Given the description of an element on the screen output the (x, y) to click on. 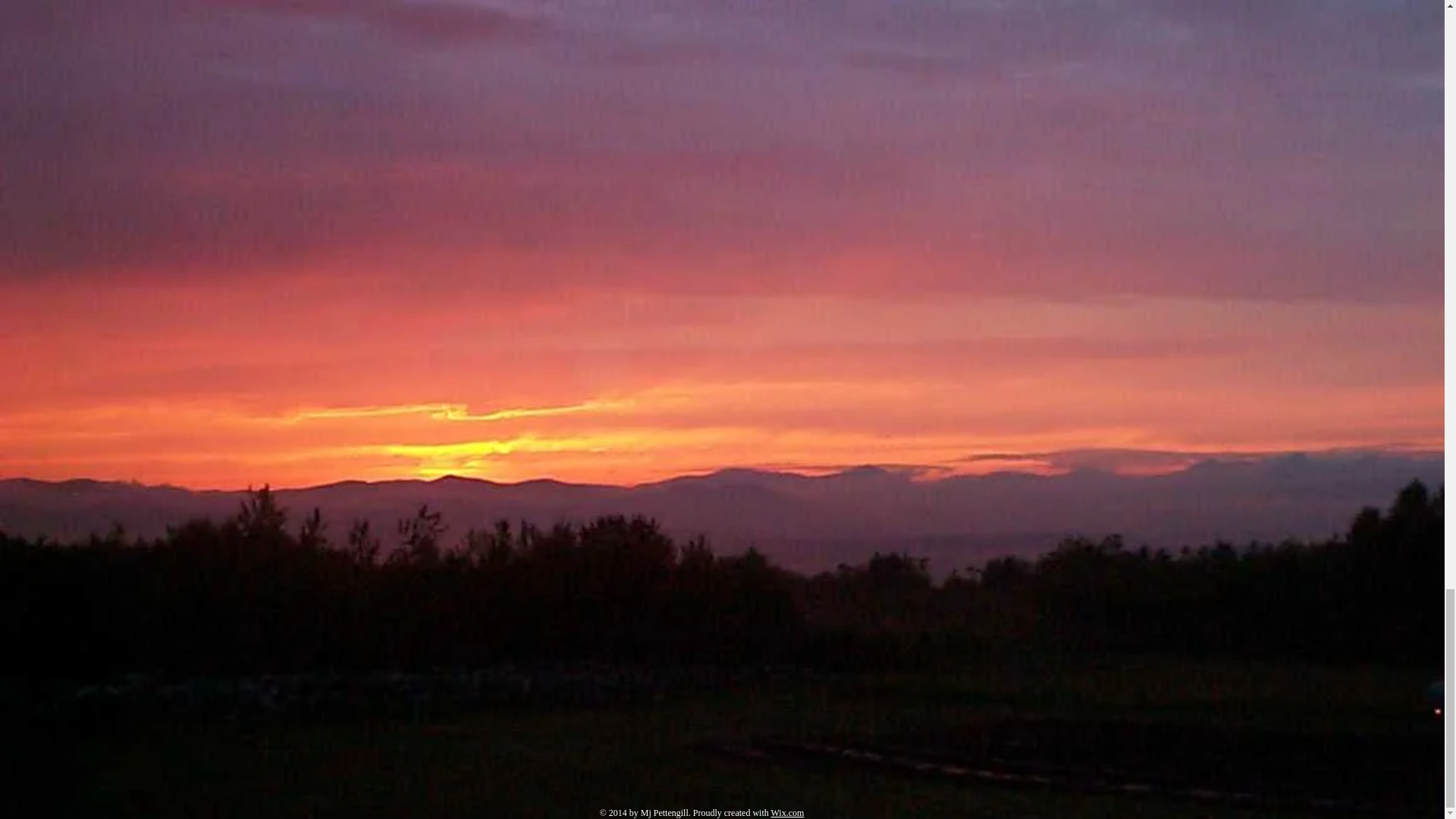
Wix.com (788, 812)
